Given the description of an element on the screen output the (x, y) to click on. 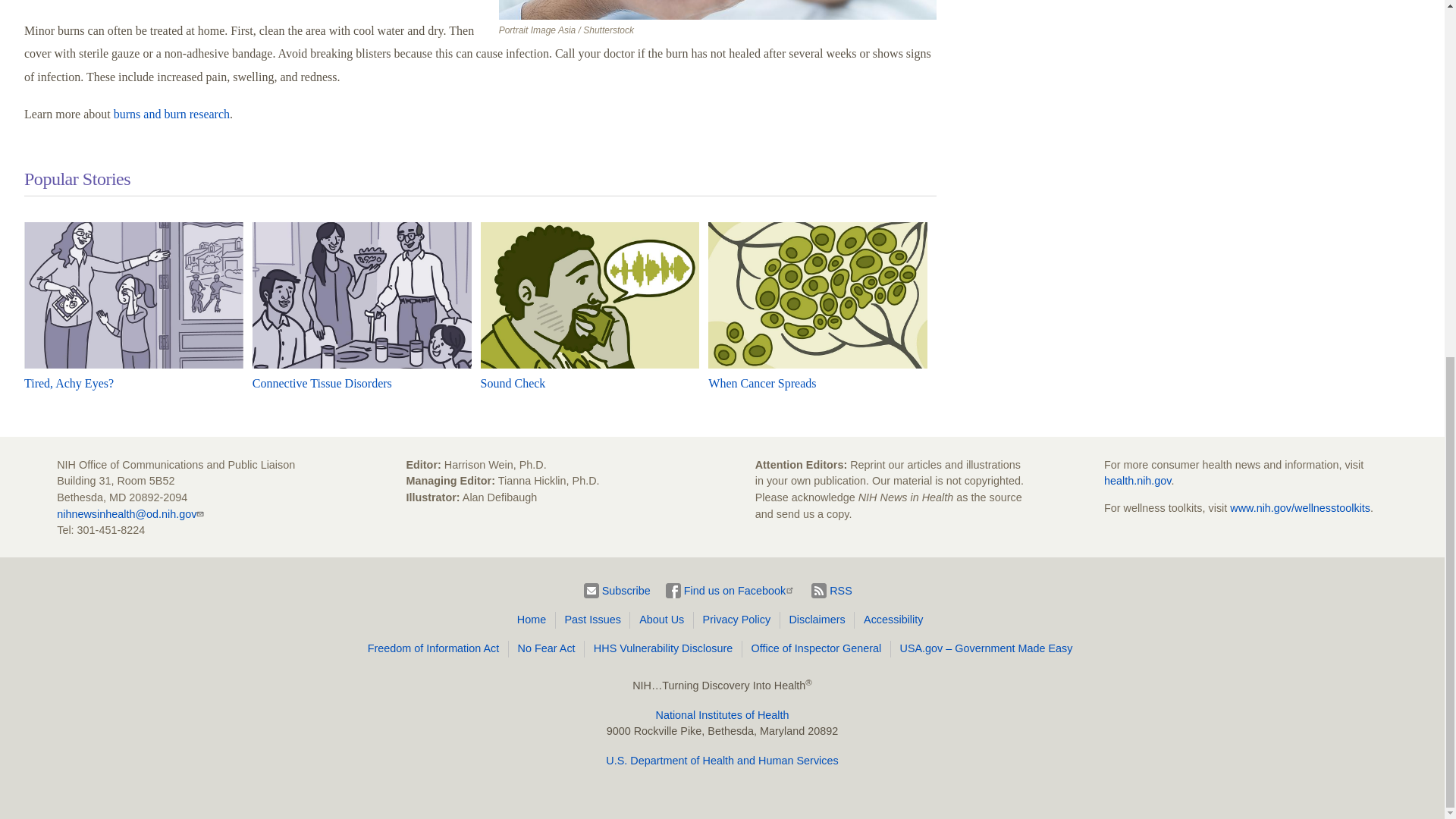
Tired, Achy Eyes? (68, 382)
Accessibility (891, 619)
Privacy Policy (739, 619)
Subscribe (616, 591)
About Us (663, 619)
health.nih.gov (1137, 480)
Close up of a doctor bandaging the upper limb on a patient (718, 9)
Home (534, 619)
Disclaimers (820, 619)
